Given the description of an element on the screen output the (x, y) to click on. 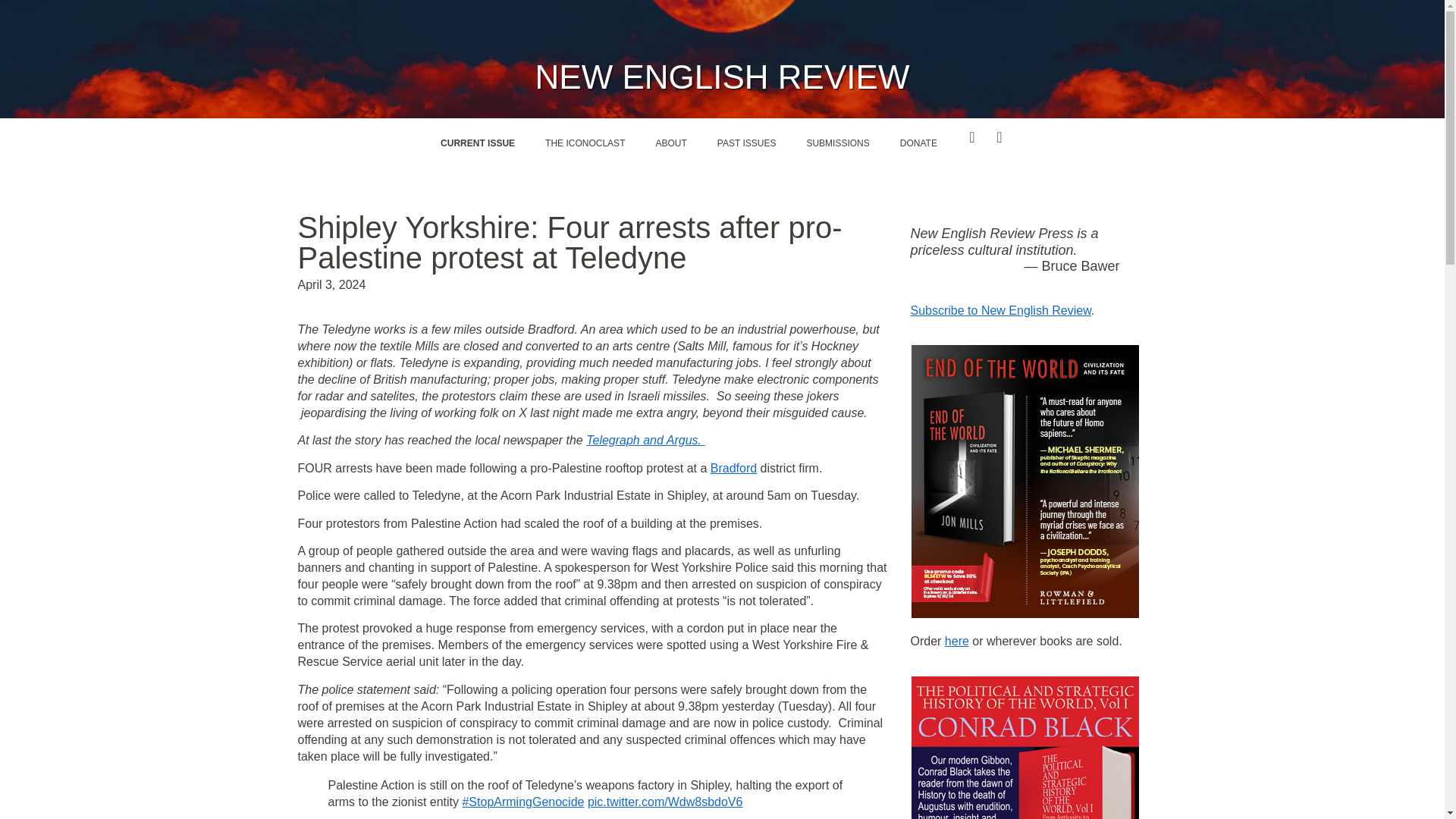
CURRENT ISSUE (477, 143)
PAST ISSUES (746, 143)
THE ICONOCLAST (584, 143)
SUBMISSIONS (836, 143)
ABOUT (670, 143)
Telegraph and Argus.  (645, 440)
Bradford (733, 468)
NEW ENGLISH REVIEW (722, 76)
DONATE (918, 143)
